Given the description of an element on the screen output the (x, y) to click on. 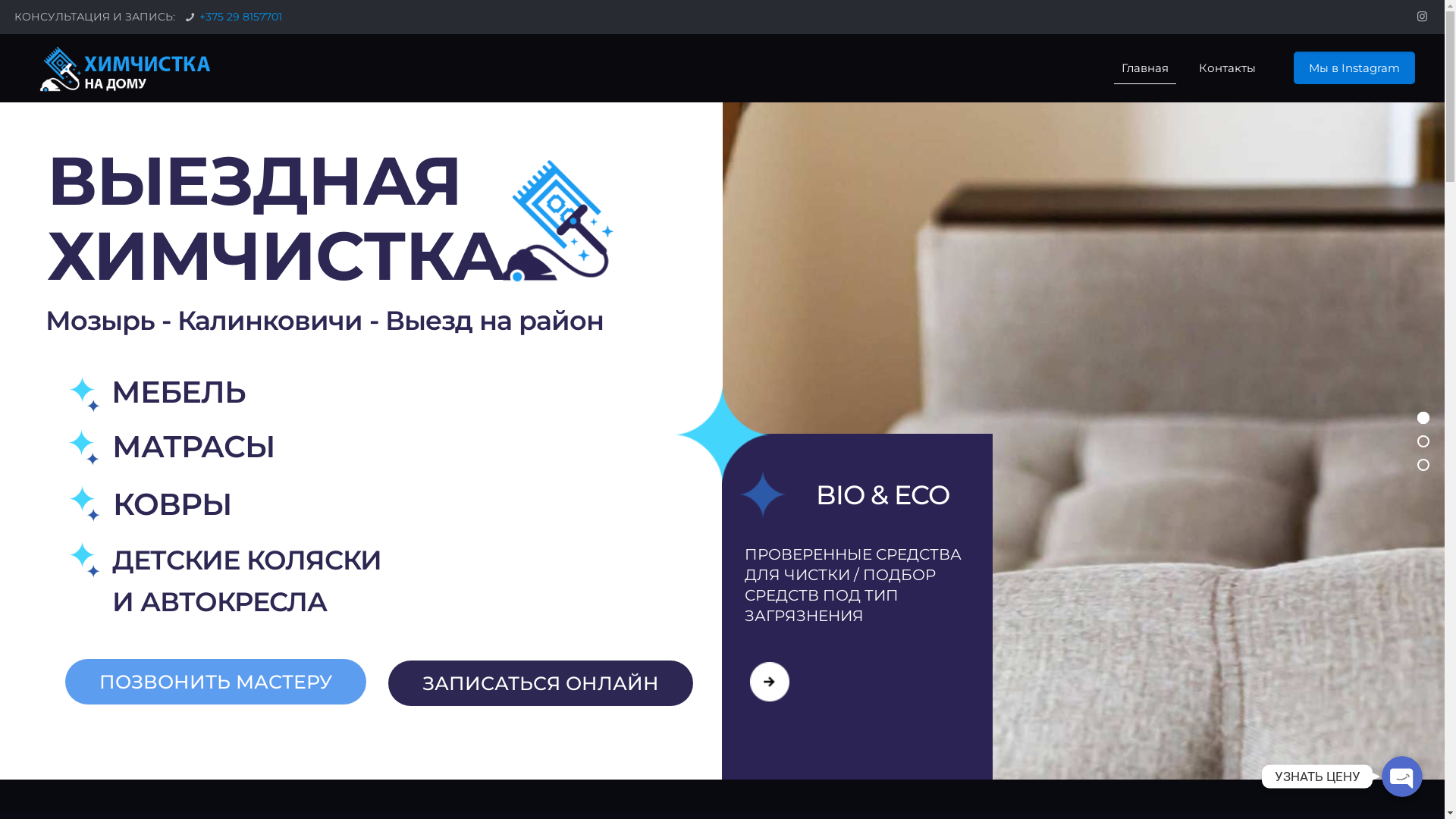
Instagram Element type: hover (1422, 16)
+375 29 8157701 Element type: text (240, 16)
